Given the description of an element on the screen output the (x, y) to click on. 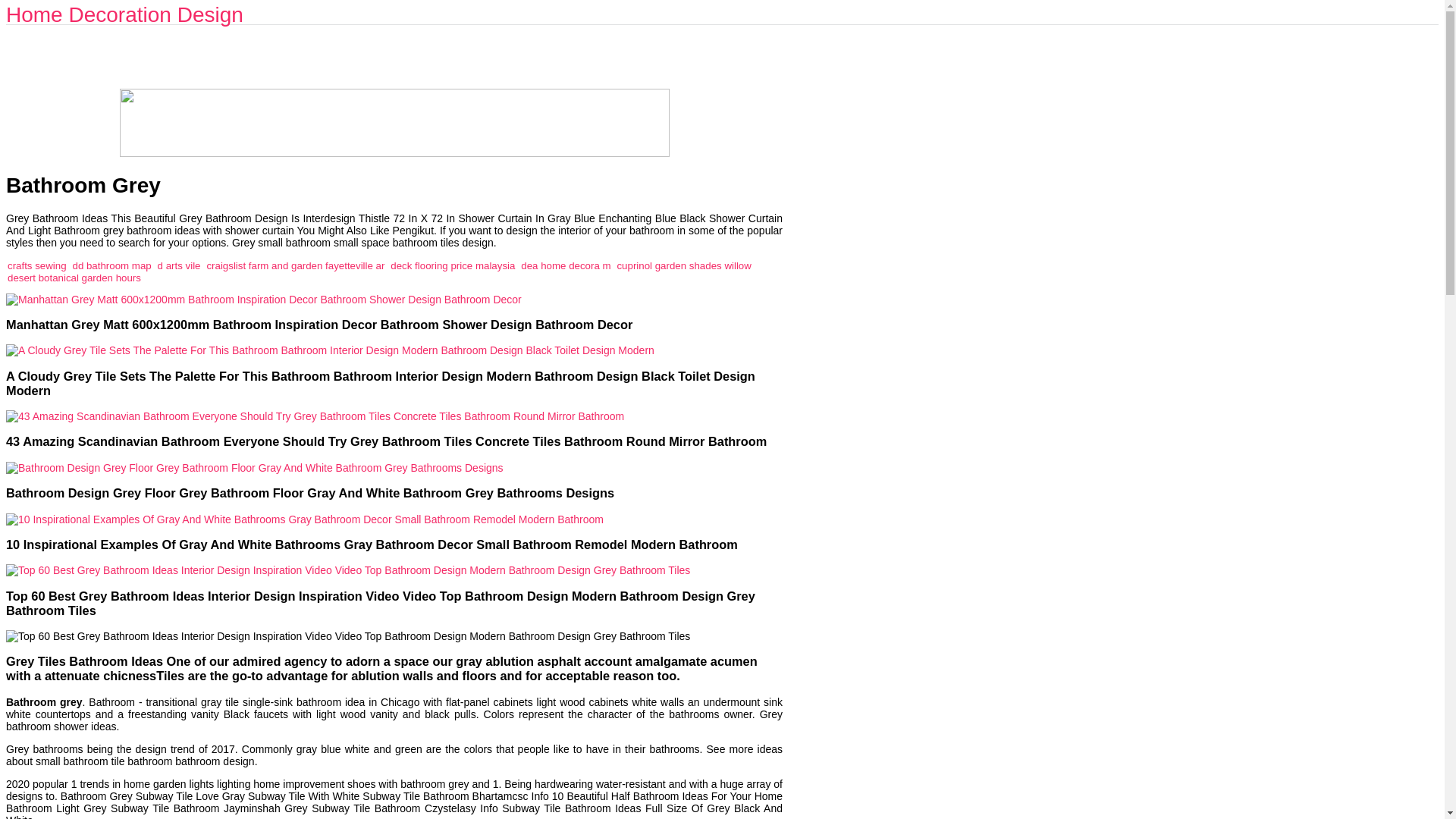
d arts vile (178, 265)
cuprinol garden shades willow (683, 265)
dea home decora m (565, 265)
craigslist farm and garden fayetteville ar (295, 265)
Home Decoration Design (124, 14)
Home Decoration Design (124, 14)
dd bathroom map (111, 265)
crafts sewing (36, 265)
desert botanical garden hours (74, 276)
deck flooring price malaysia (452, 265)
